Given the description of an element on the screen output the (x, y) to click on. 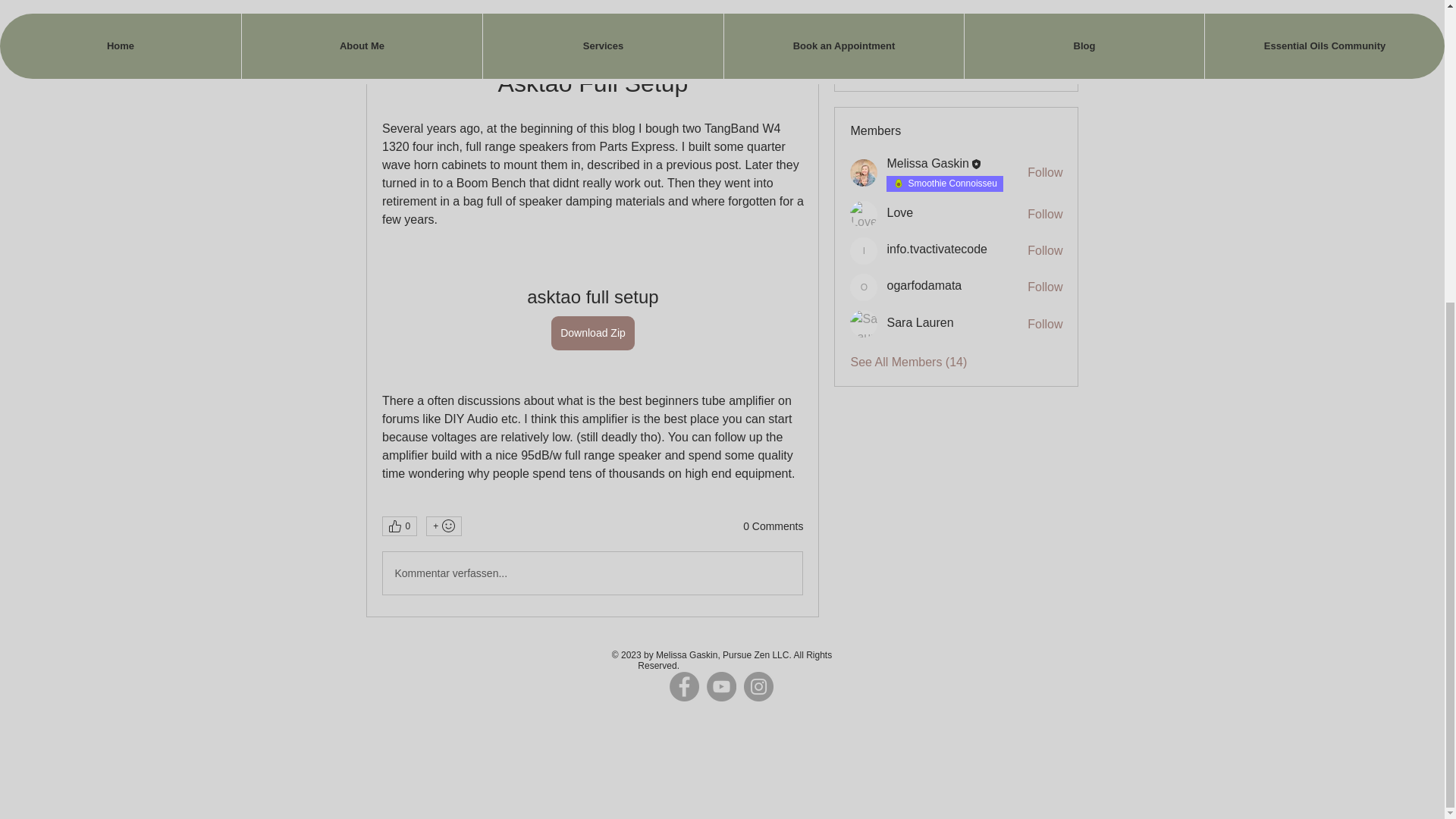
Melissa Gaskin (927, 163)
Love (863, 214)
info.tvactivatecode (863, 250)
ogarfodamata (923, 285)
Sara Lauren (863, 323)
Anthony Cruz (401, 28)
Follow (1044, 214)
0 Comments (772, 526)
Follow (1044, 324)
Follow (1044, 250)
